Given the description of an element on the screen output the (x, y) to click on. 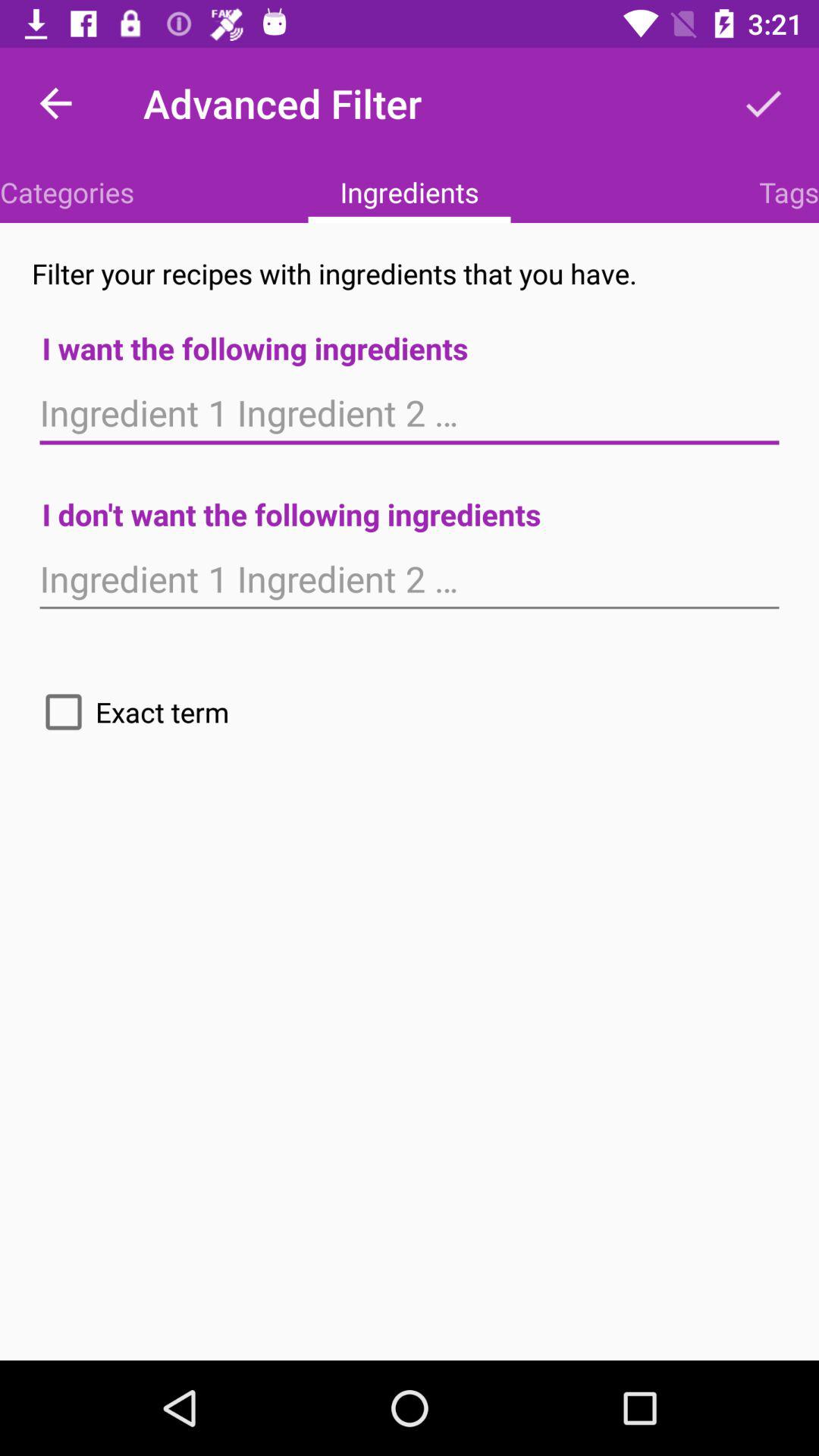
turn on the item to the right of the ingredients (789, 192)
